Given the description of an element on the screen output the (x, y) to click on. 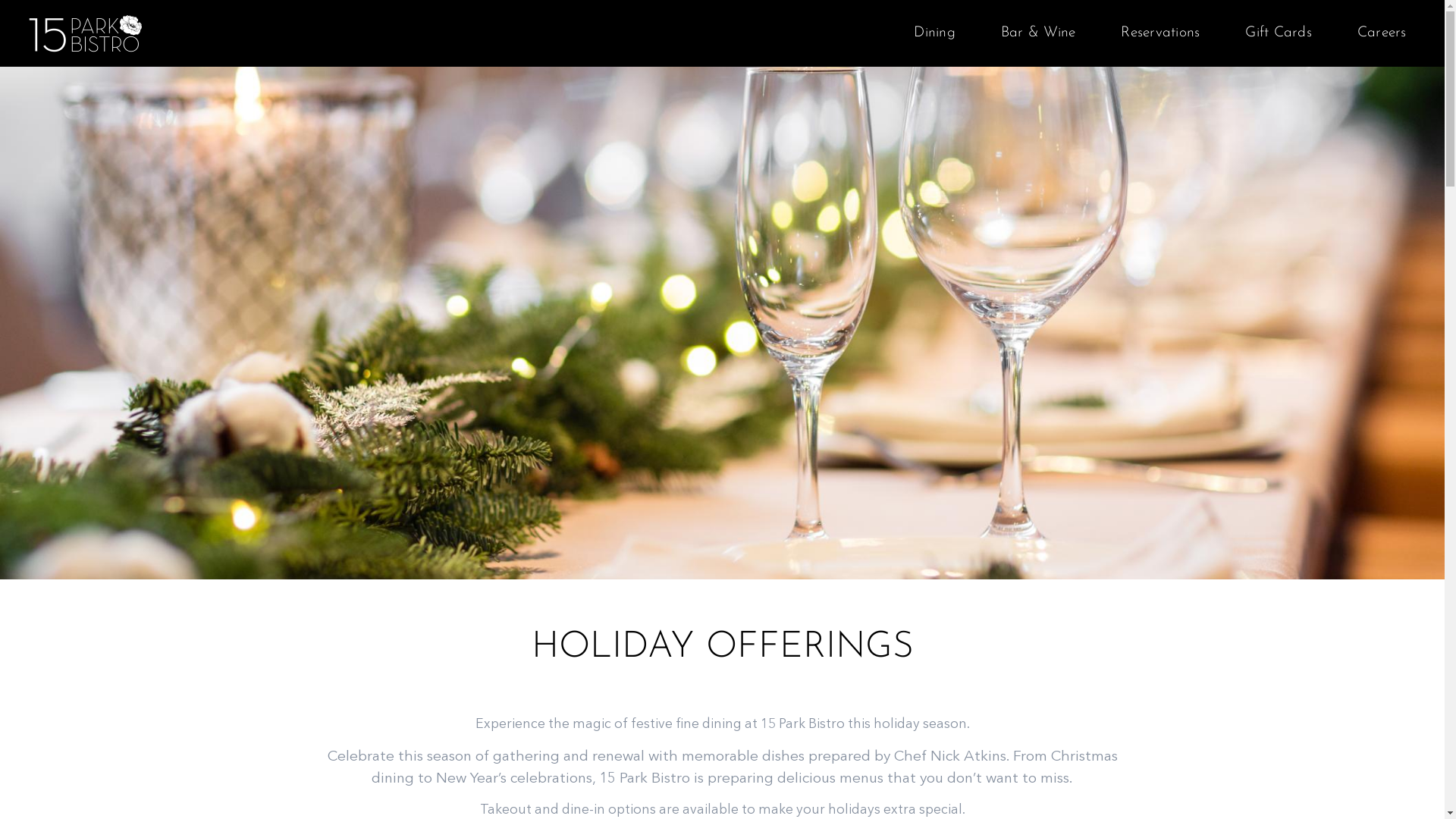
Careers Element type: text (1381, 32)
Dining Element type: text (934, 32)
Bar & Wine Element type: text (1038, 32)
Reservations Element type: text (1160, 32)
Gift Cards Element type: text (1278, 32)
